Given the description of an element on the screen output the (x, y) to click on. 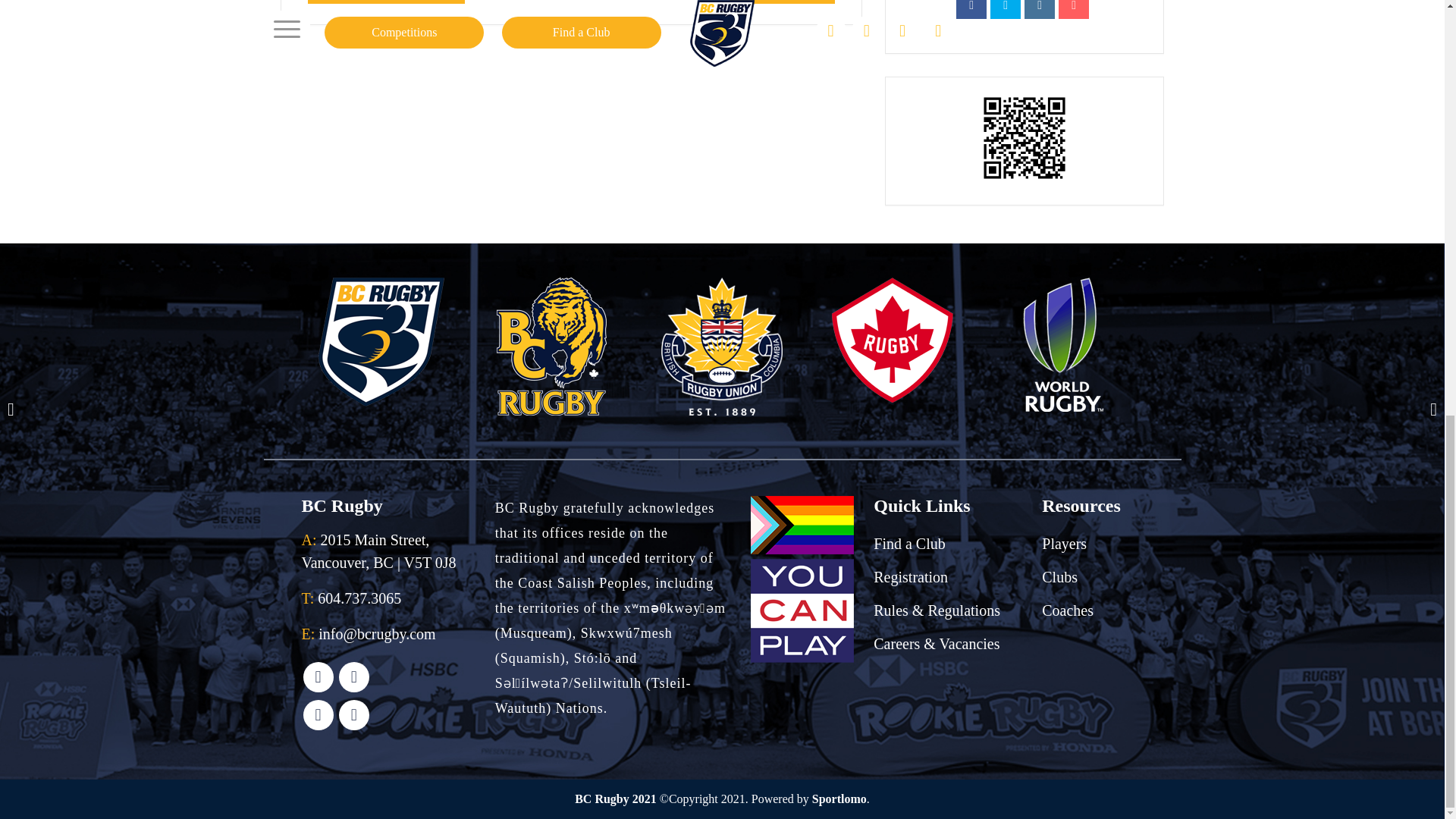
Linkedin (1039, 9)
Tweet (1005, 9)
Email (1073, 9)
Share on Facebook (971, 9)
